Given the description of an element on the screen output the (x, y) to click on. 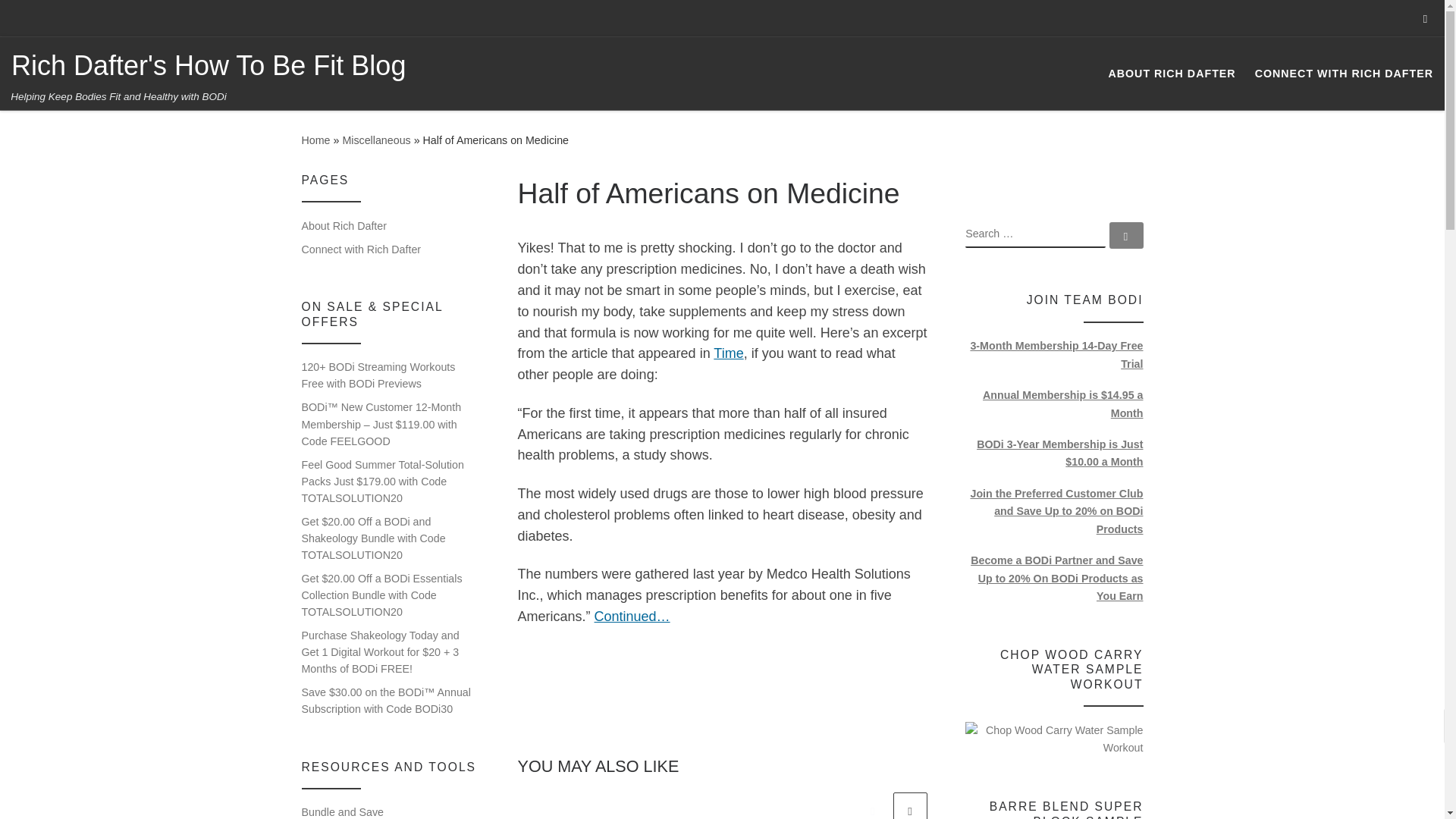
Miscellaneous (376, 140)
ABOUT RICH DAFTER (1171, 73)
Half of Americans on Medicine (631, 616)
Rich Dafter's How To Be Fit Blog (208, 65)
Miscellaneous (376, 140)
Connect with Rich Dafter (361, 248)
Home (315, 140)
About Rich Dafter (344, 225)
Rich Dafter's How To Be Fit Blog (315, 140)
Free BODi Workouts in Previews (378, 375)
